Given the description of an element on the screen output the (x, y) to click on. 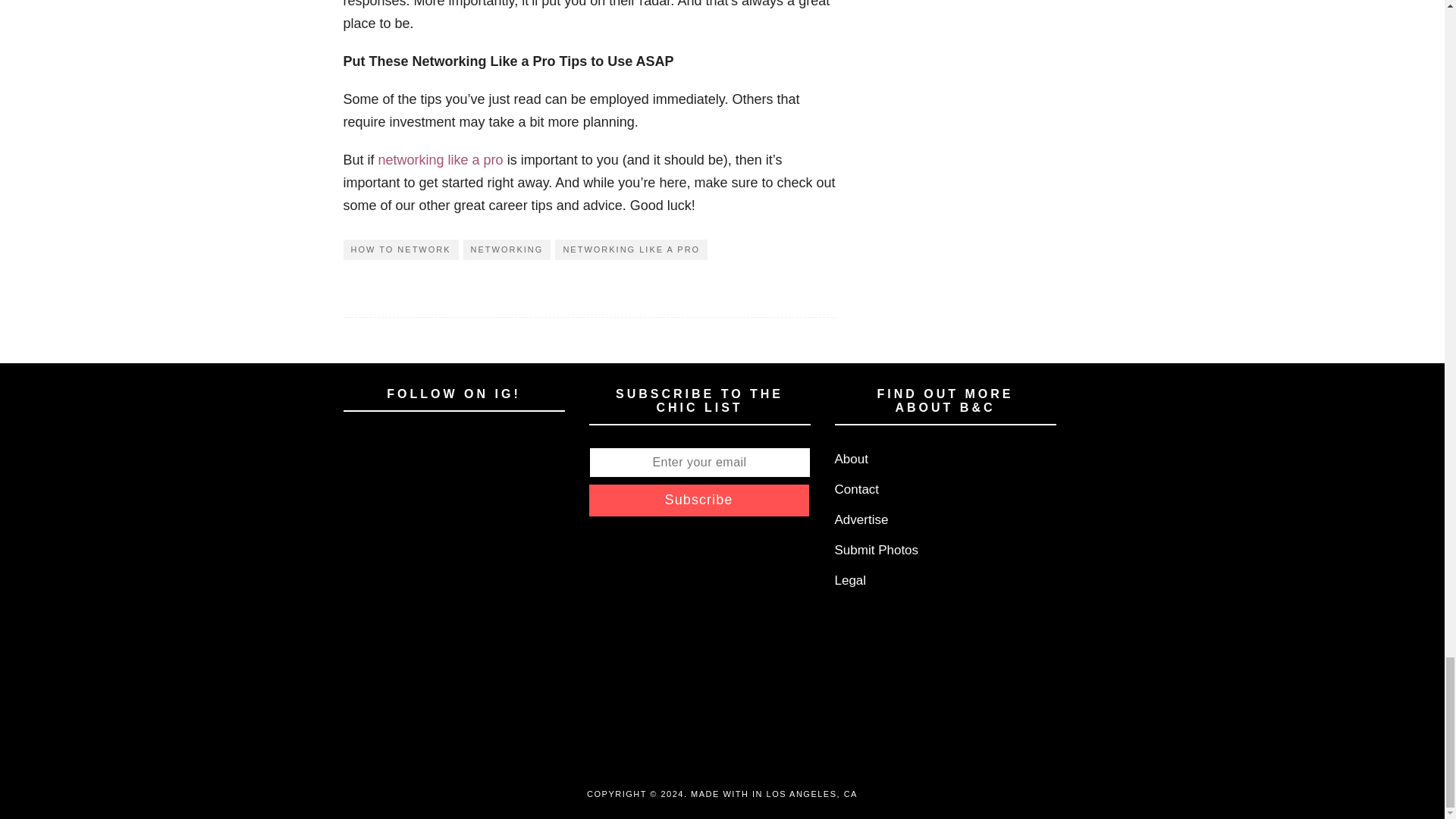
Subscribe (698, 500)
HOW TO NETWORK (400, 249)
NETWORKING LIKE A PRO (630, 249)
NETWORKING (507, 249)
networking like a pro (440, 159)
